Given the description of an element on the screen output the (x, y) to click on. 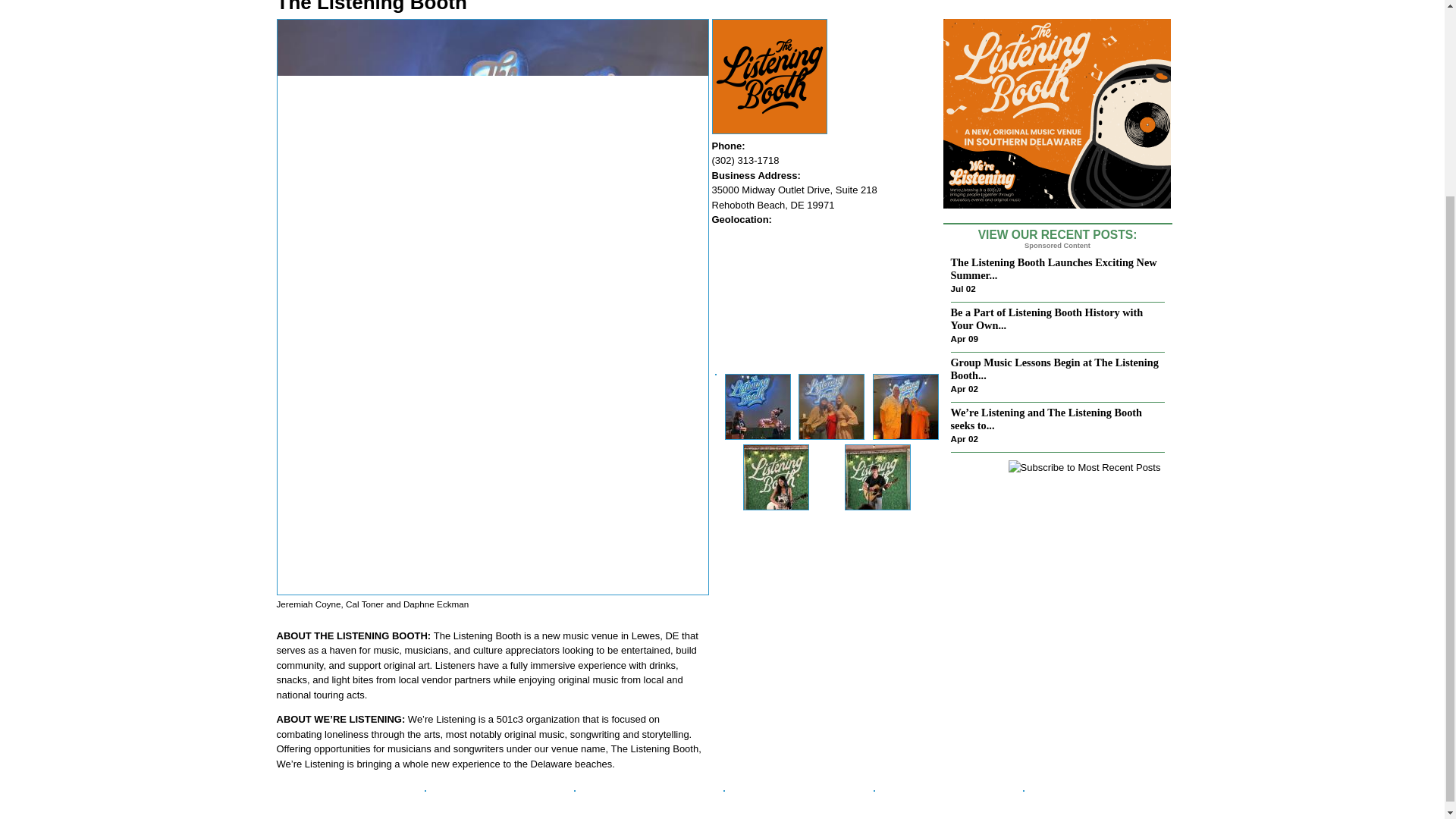
Halley Neal, Marissa Levy and Julie Derrick (830, 406)
Russ Huxtable, Dar Williams and Marissa Lerer (905, 406)
Subscribe to Most Recent Posts (1084, 467)
Cecilia Grace (775, 477)
Open Mic night every Wednesday (757, 406)
Maddox Gipko (877, 477)
